Given the description of an element on the screen output the (x, y) to click on. 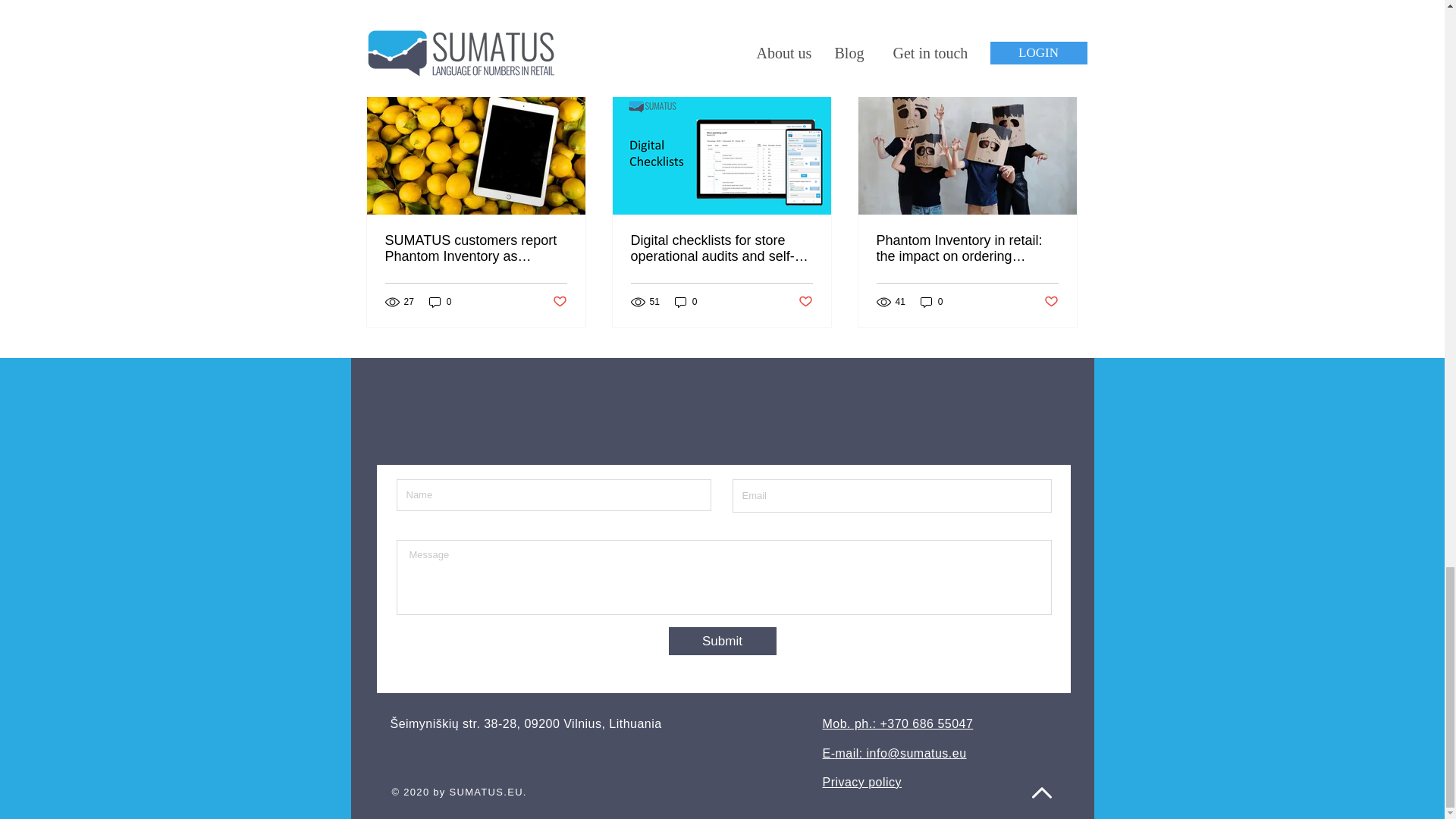
0 (685, 301)
0 (440, 301)
Privacy policy (861, 781)
Post not marked as liked (1050, 302)
0 (931, 301)
Submit (722, 641)
Post not marked as liked (558, 302)
